Given the description of an element on the screen output the (x, y) to click on. 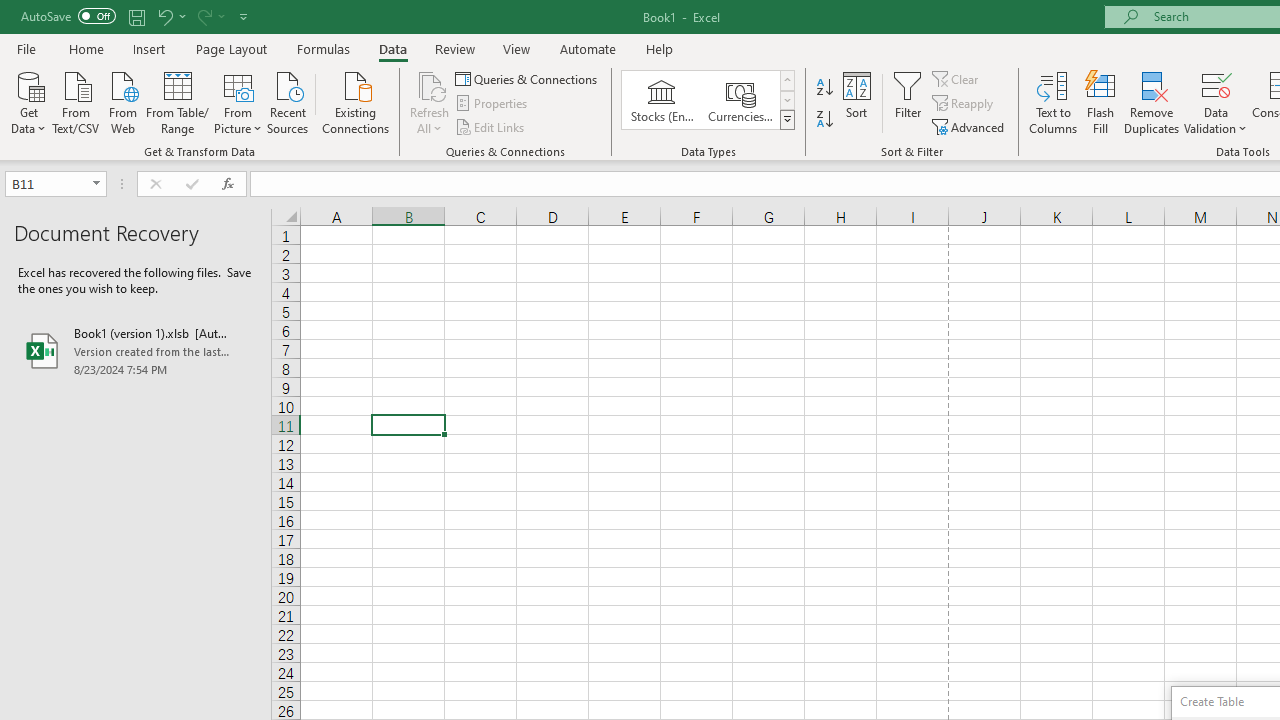
Automate (588, 48)
Undo (170, 15)
Queries & Connections (527, 78)
Remove Duplicates (1151, 102)
Sort A to Z (824, 87)
Insert (149, 48)
Class: NetUIImage (787, 119)
Data Types (786, 120)
Refresh All (429, 84)
Get Data (28, 101)
Data Validation... (1215, 84)
Save (136, 15)
Row Down (786, 100)
Currencies (English) (740, 100)
Stocks (English) (662, 100)
